Given the description of an element on the screen output the (x, y) to click on. 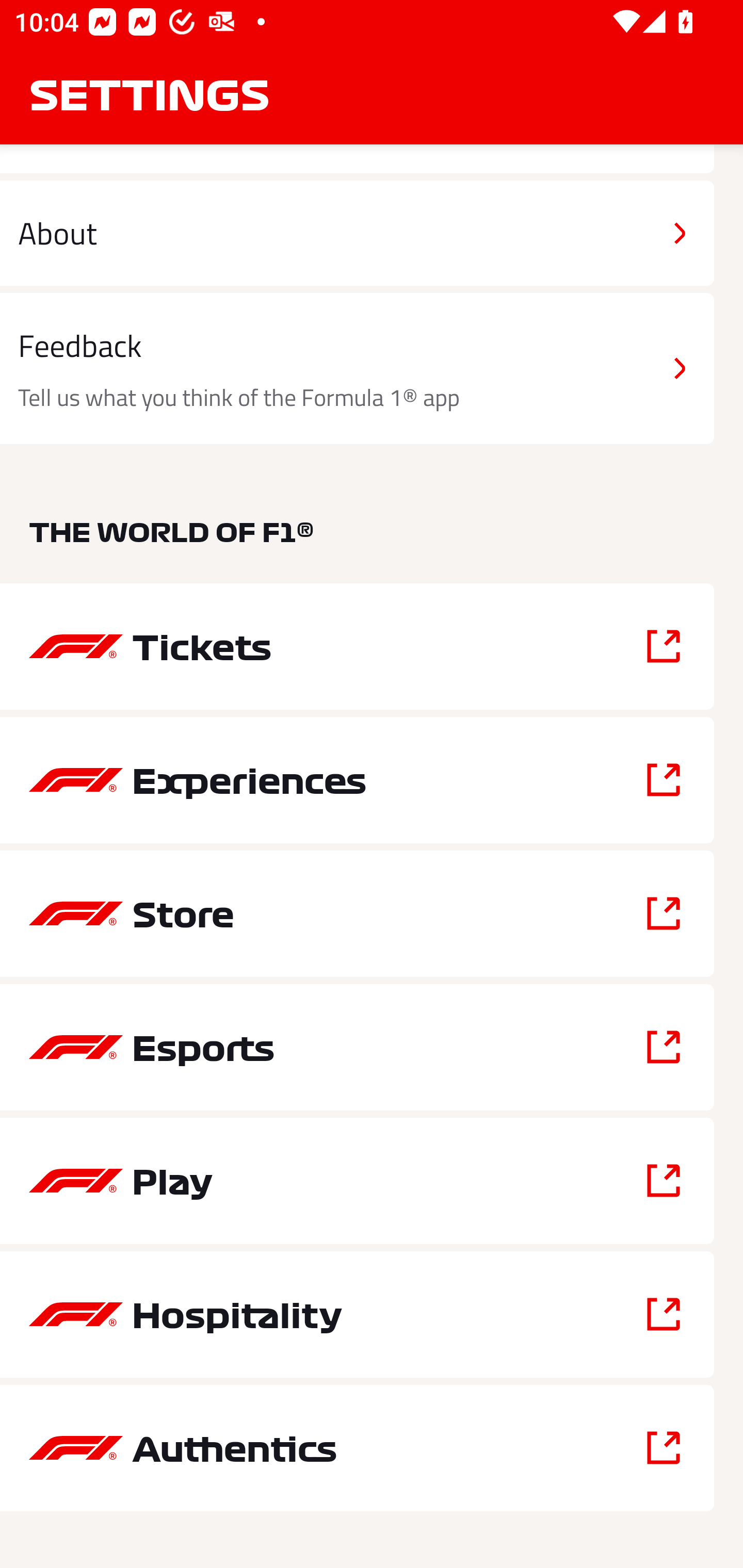
About (357, 232)
Tickets (357, 646)
Experiences (357, 779)
Store (357, 912)
Esports (357, 1047)
Play (357, 1180)
Hospitality (357, 1314)
Authentics (357, 1447)
